Given the description of an element on the screen output the (x, y) to click on. 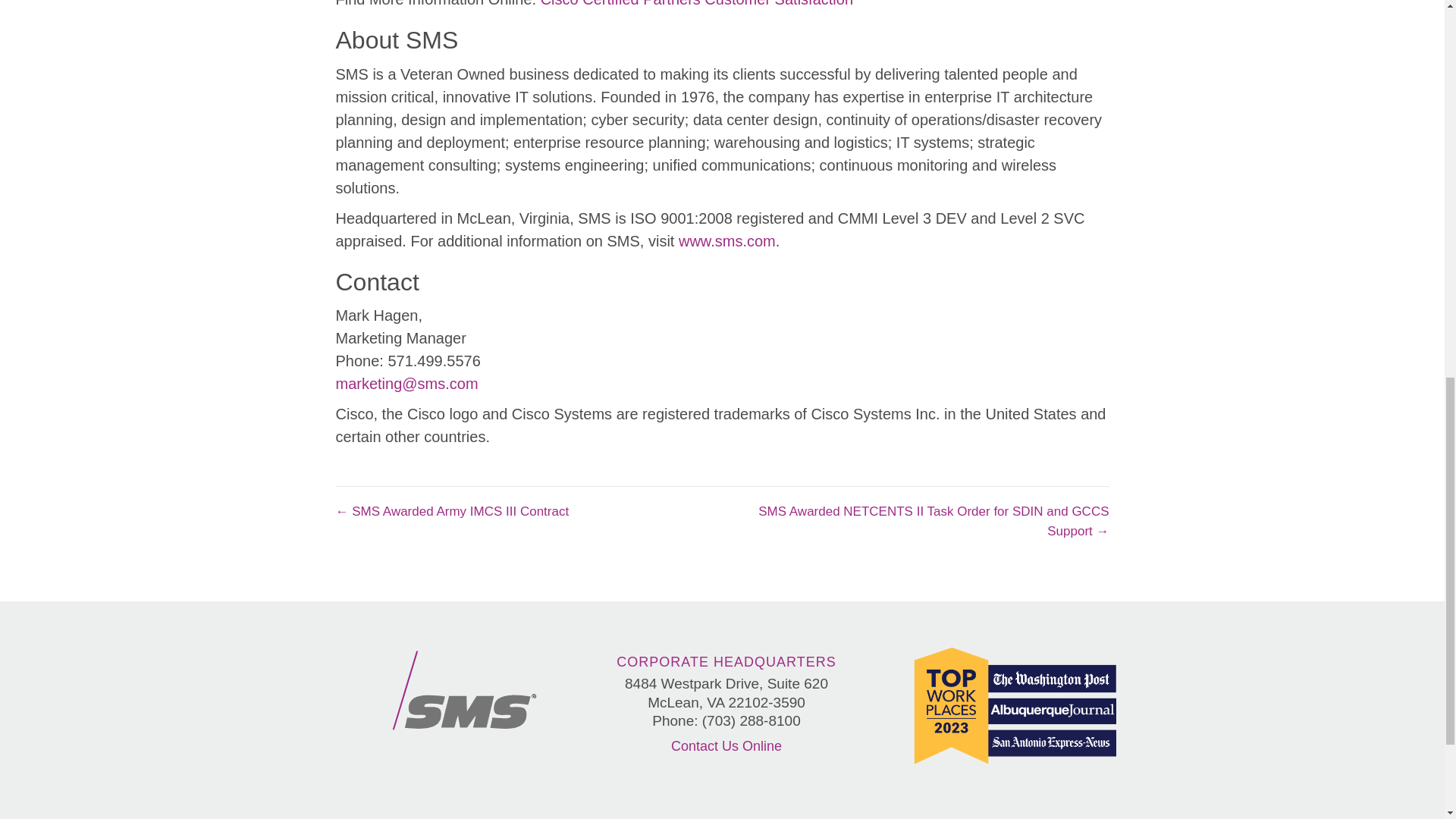
TWP 2023 x3 (1014, 705)
Cisco Certified Partners Customer Satisfaction (696, 3)
Contact Us Online (726, 745)
Corporate Headquarters (725, 661)
www.sms.com (727, 240)
